Given the description of an element on the screen output the (x, y) to click on. 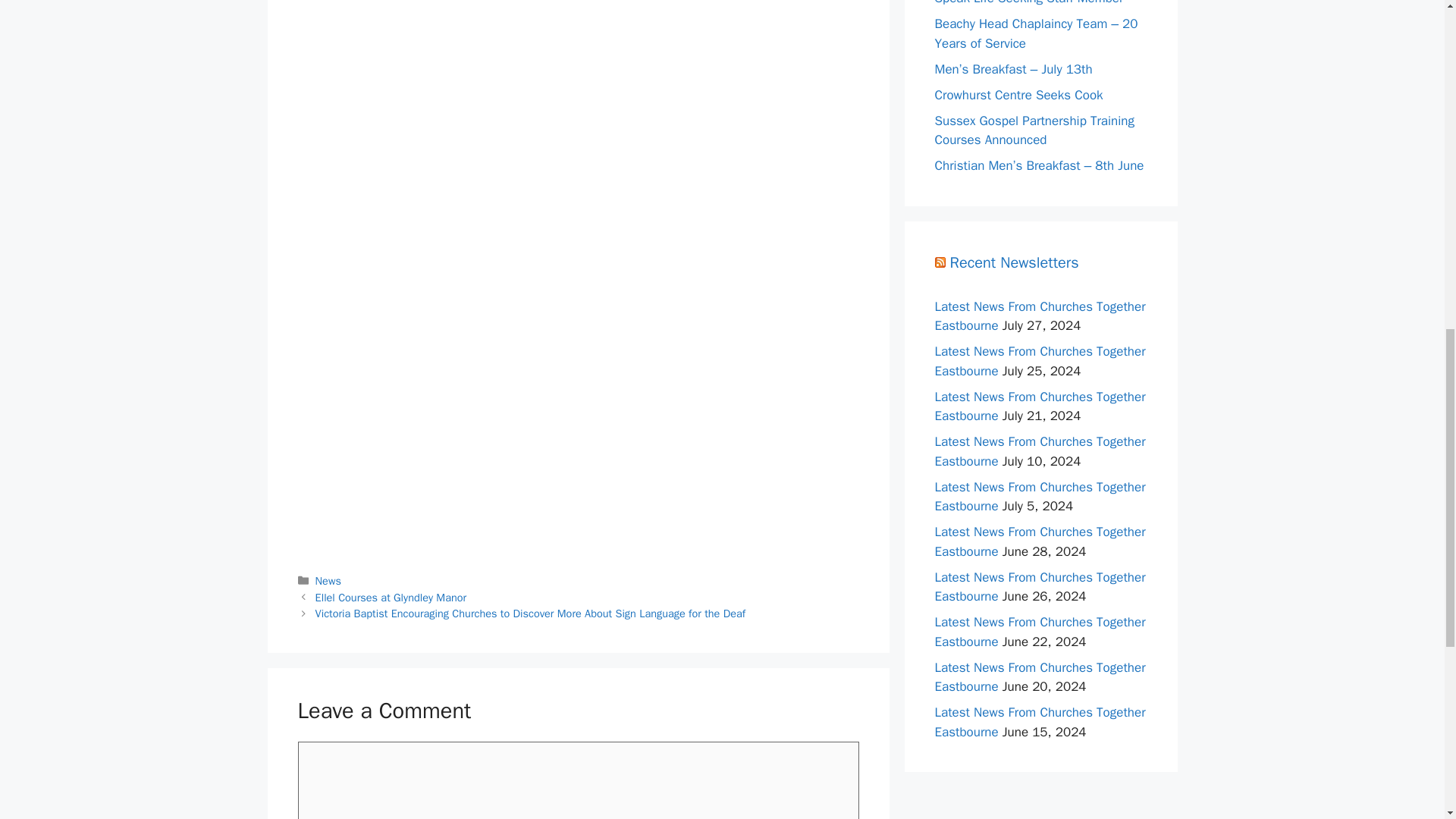
Latest News From Churches Together Eastbourne (1039, 497)
Latest News From Churches Together Eastbourne (1039, 451)
Recent Newsletters (1013, 262)
Latest News From Churches Together Eastbourne (1039, 632)
Latest News From Churches Together Eastbourne (1039, 316)
Ellel Courses at Glyndley Manor (391, 597)
Latest News From Churches Together Eastbourne (1039, 541)
Latest News From Churches Together Eastbourne (1039, 587)
Speak Life Seeking Staff Member (1028, 2)
News (327, 581)
Sussex Gospel Partnership Training Courses Announced (1034, 130)
Latest News From Churches Together Eastbourne (1039, 407)
Latest News From Churches Together Eastbourne (1039, 677)
Latest News From Churches Together Eastbourne (1039, 361)
